Given the description of an element on the screen output the (x, y) to click on. 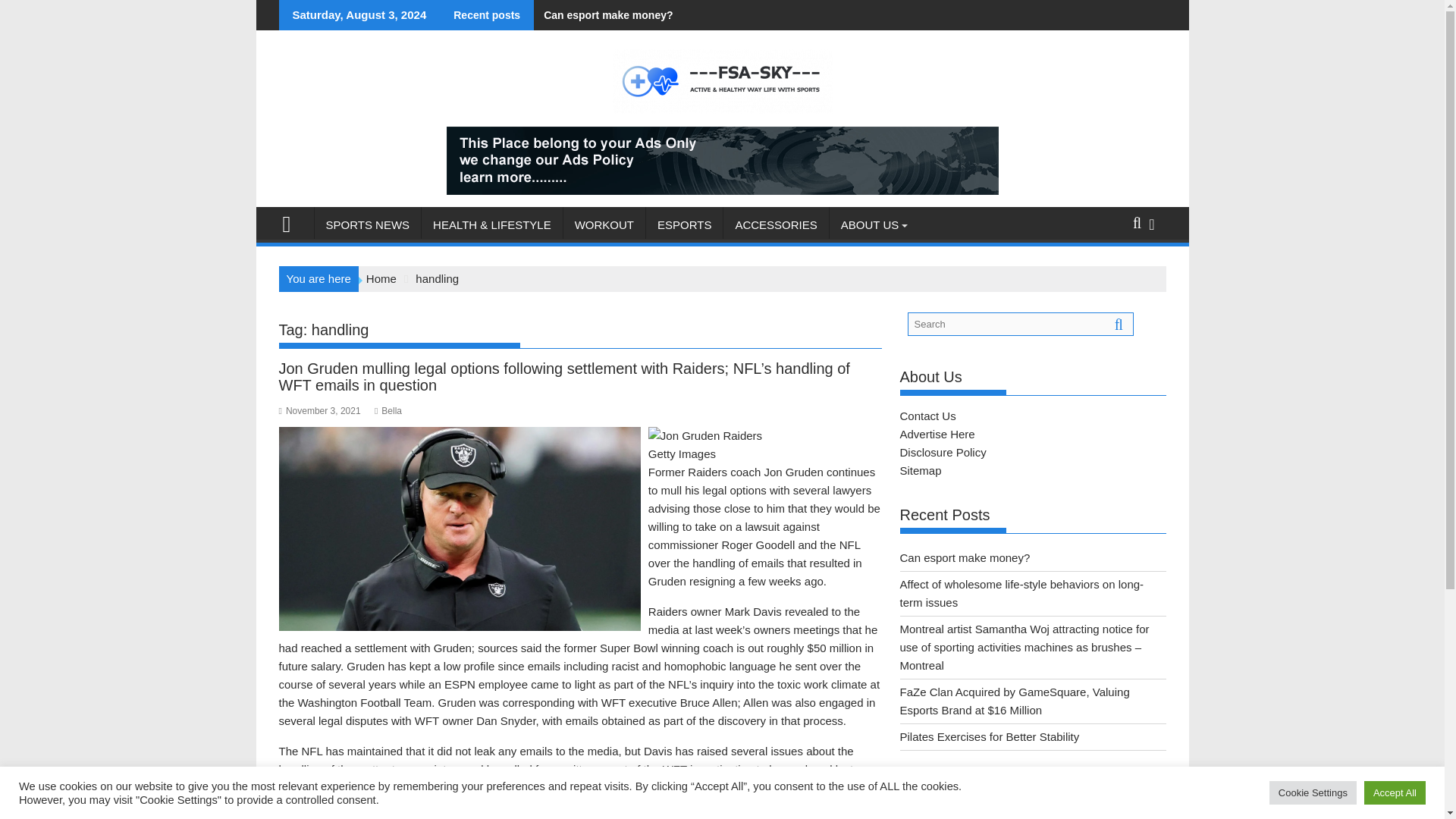
WORKOUT (604, 225)
SPORTS NEWS (367, 225)
Bella (387, 410)
November 3, 2021 (320, 410)
Can esport make money? (603, 15)
ACCESSORIES (775, 225)
ABOUT US (869, 225)
FSA-SKY (293, 222)
ESPORTS (684, 225)
Home (381, 278)
Can esport make money? (603, 15)
